Given the description of an element on the screen output the (x, y) to click on. 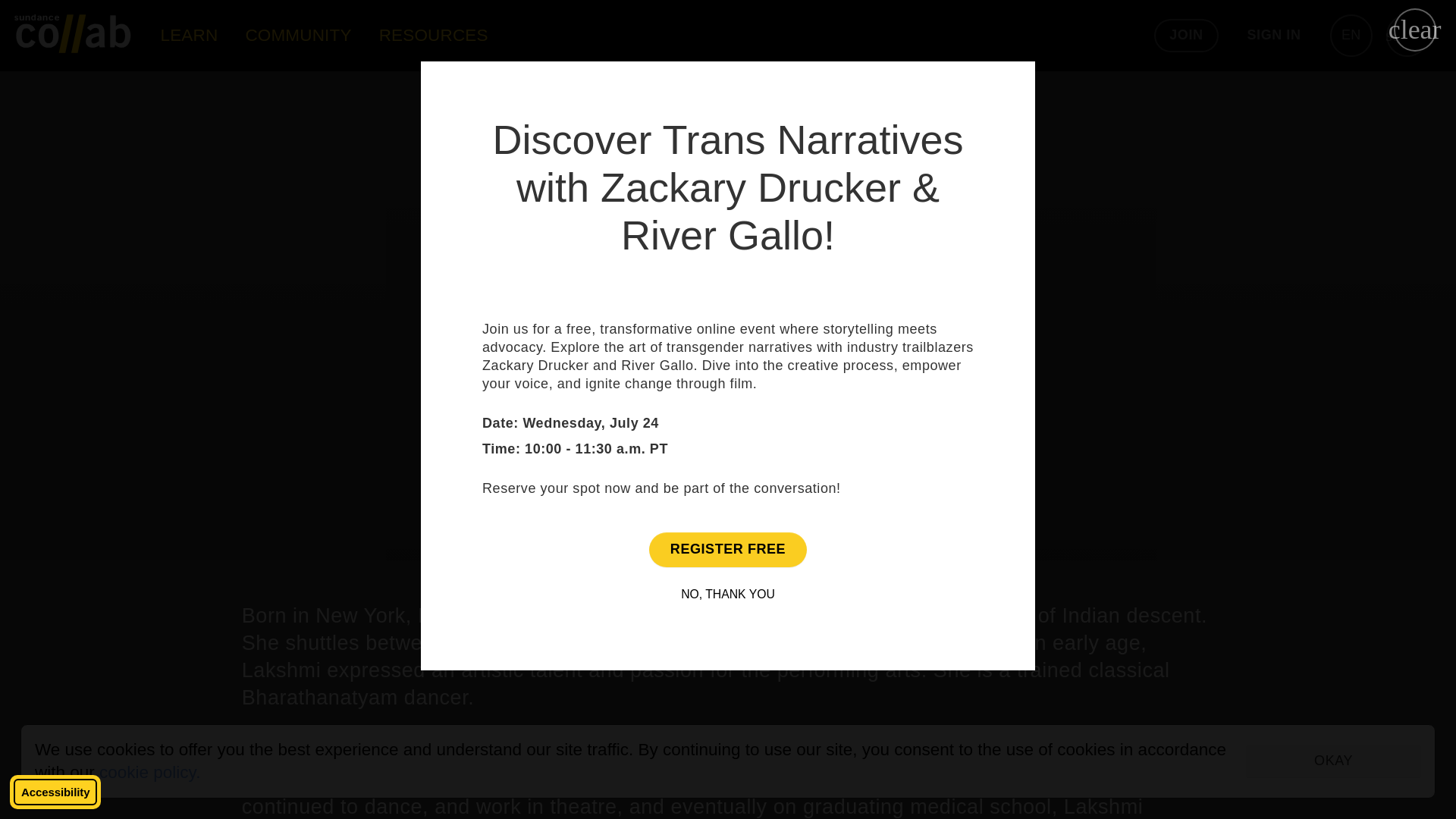
OKAY (1333, 761)
RESOURCES (433, 35)
EN (1351, 35)
Accessibility Menu (55, 791)
cookie policy. (149, 772)
COMMUNITY (298, 35)
Search (1407, 35)
SIGN IN (1273, 35)
JOIN (1185, 35)
LEARN (189, 35)
